Given the description of an element on the screen output the (x, y) to click on. 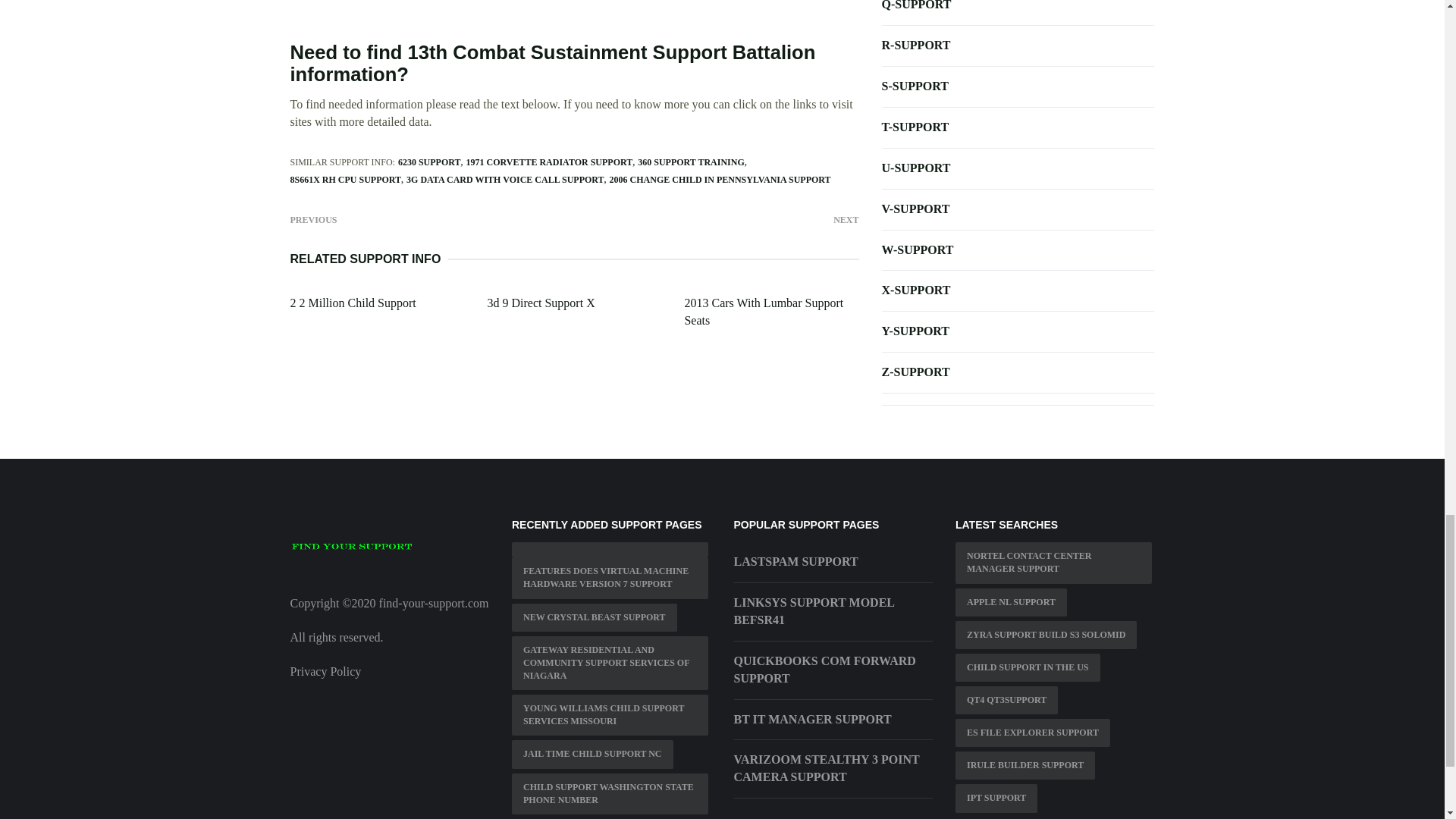
PREVIOUS (312, 218)
8S661X RH CPU SUPPORT (345, 179)
2013 Cars With Lumbar Support Seats (763, 311)
6230 SUPPORT (429, 162)
3d 9 Direct Support X (540, 302)
360 SUPPORT TRAINING (690, 162)
NEXT (845, 218)
3G DATA CARD WITH VOICE CALL SUPPORT (505, 179)
2006 CHANGE CHILD IN PENNSYLVANIA SUPPORT (720, 179)
1971 CORVETTE RADIATOR SUPPORT (549, 162)
